Given the description of an element on the screen output the (x, y) to click on. 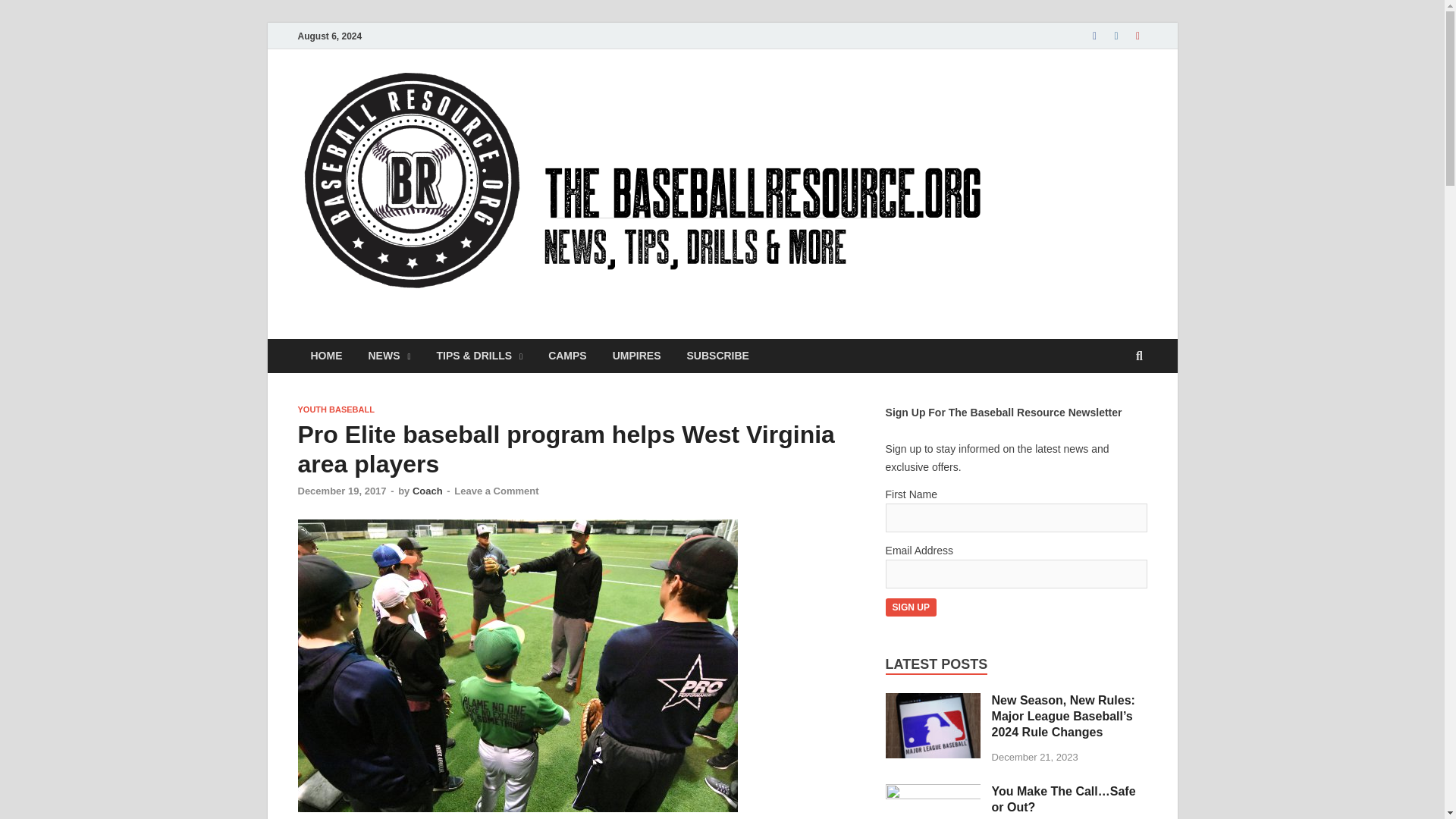
Baseball Resource (430, 330)
NEWS (389, 356)
Leave a Comment (496, 490)
HOME (326, 356)
CAMPS (567, 356)
Sign Up (910, 607)
Coach (427, 490)
SUBSCRIBE (716, 356)
YOUTH BASEBALL (335, 409)
December 19, 2017 (341, 490)
